Given the description of an element on the screen output the (x, y) to click on. 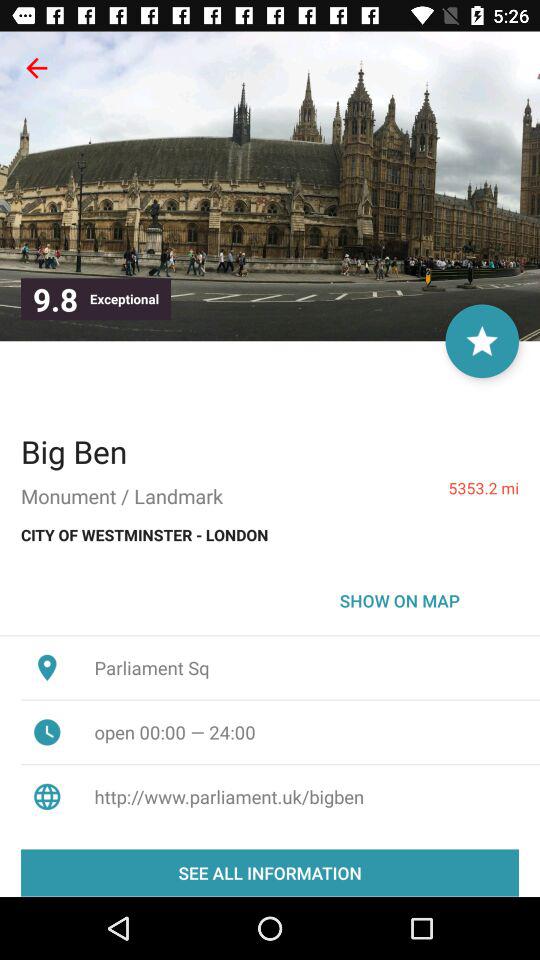
open the item above the monument / landmark (74, 451)
